Given the description of an element on the screen output the (x, y) to click on. 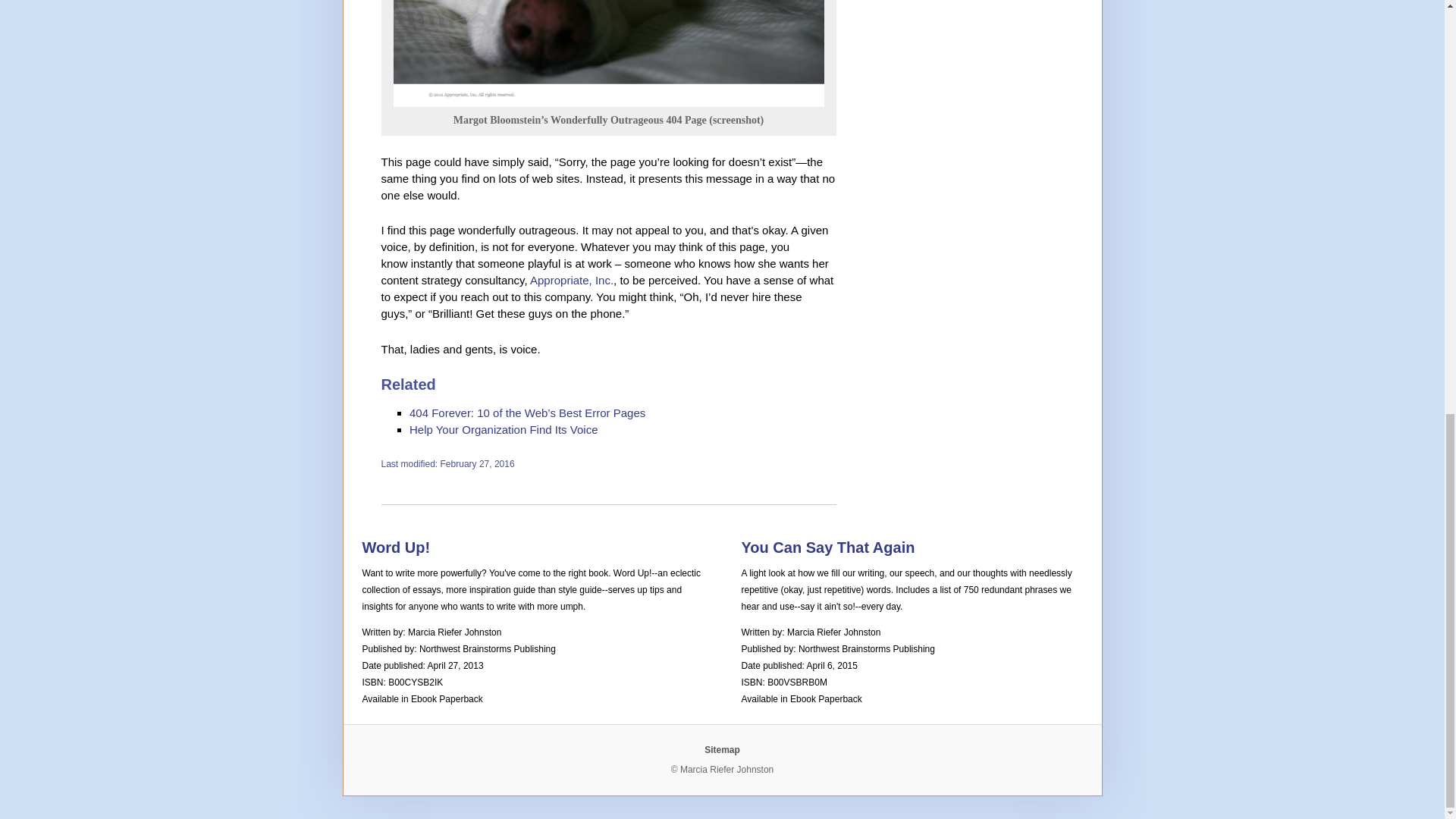
Writing.Rocks - Sitemap (721, 749)
